Given the description of an element on the screen output the (x, y) to click on. 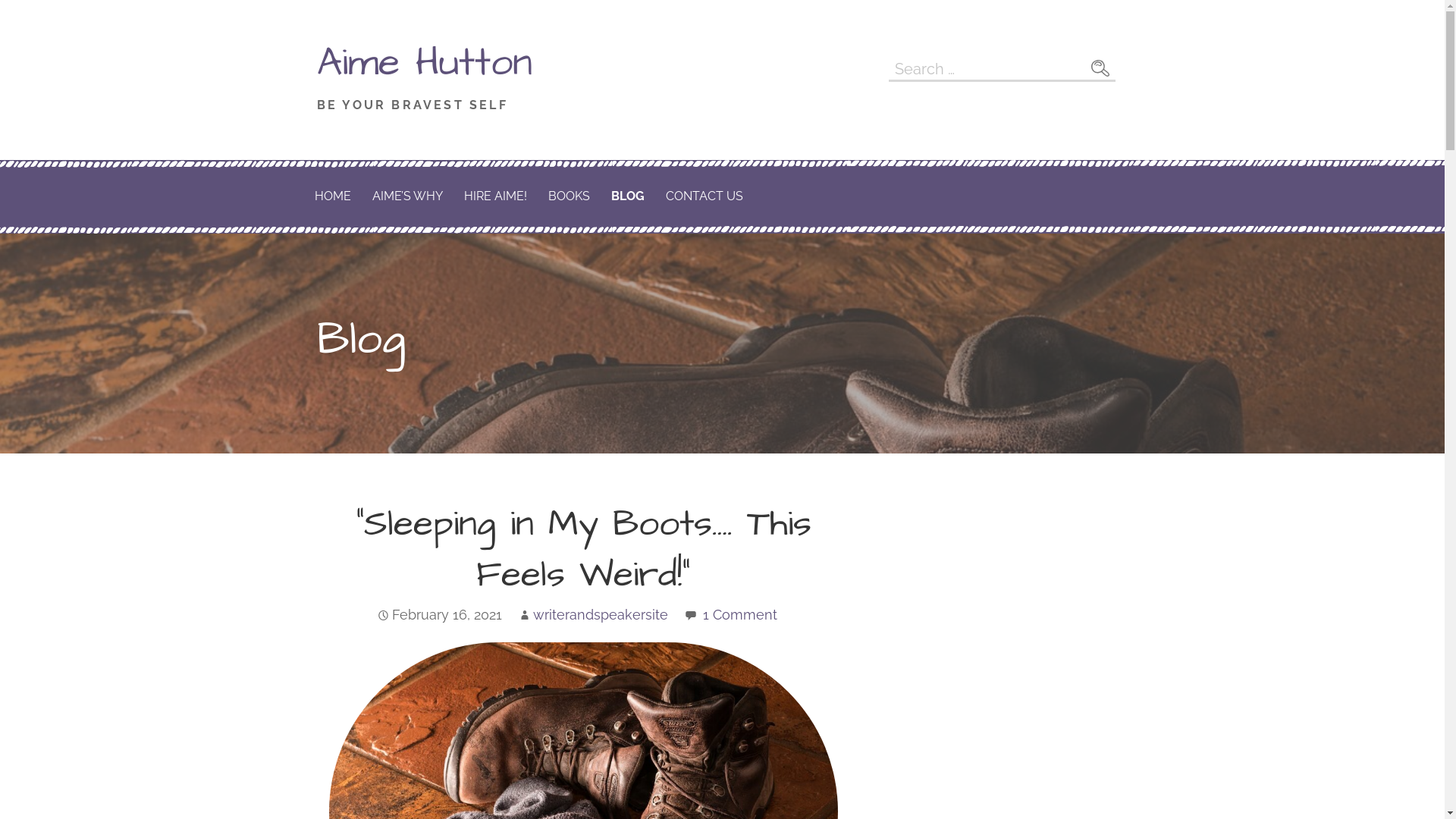
BOOKS Element type: text (568, 196)
Aime Hutton Element type: text (424, 62)
BLOG Element type: text (627, 196)
Search Element type: text (1100, 67)
1 Comment Element type: text (739, 614)
HOME Element type: text (331, 196)
HIRE AIME! Element type: text (495, 196)
CONTACT US Element type: text (704, 196)
writerandspeakersite Element type: text (600, 614)
